Given the description of an element on the screen output the (x, y) to click on. 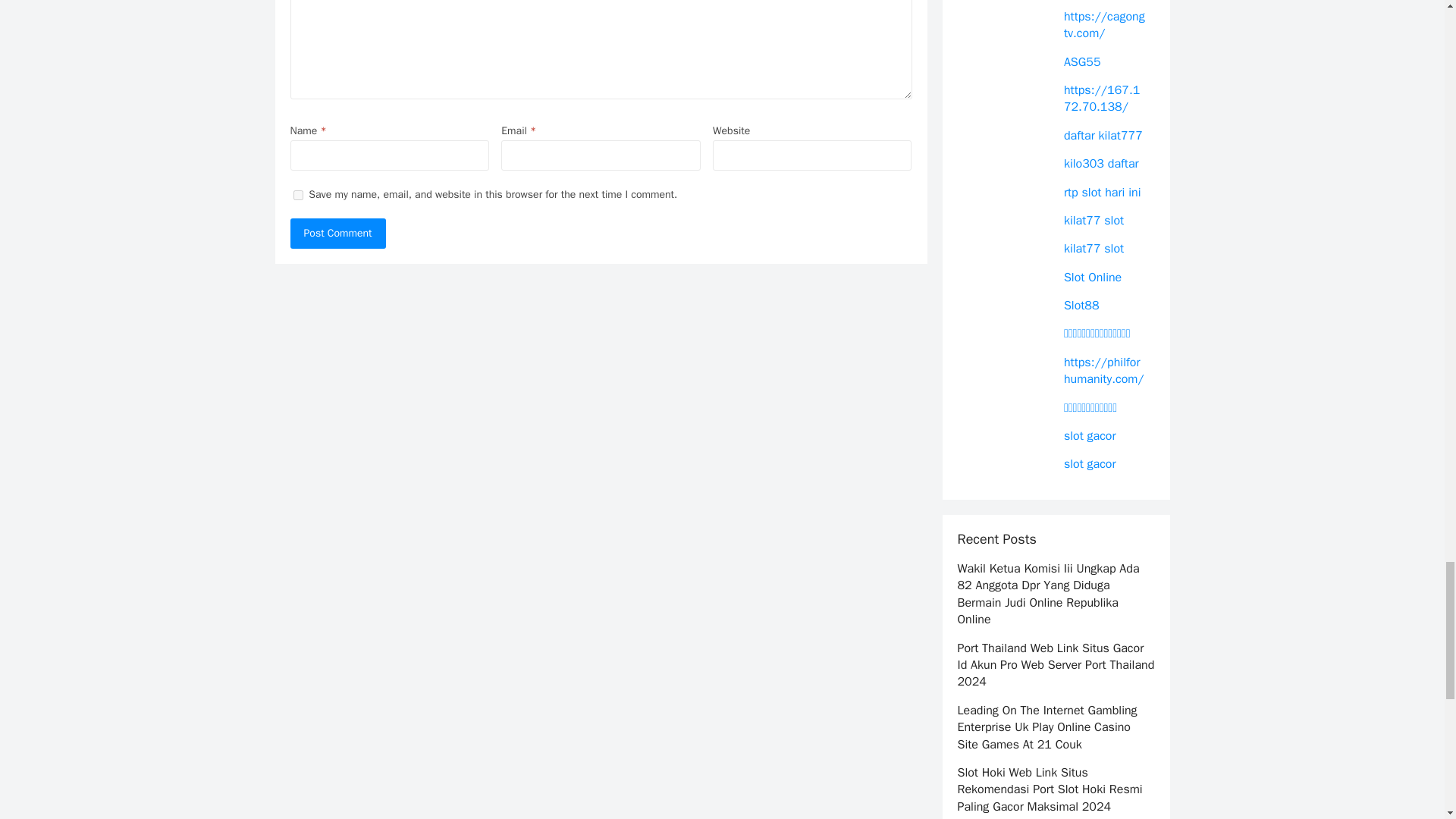
Post Comment (337, 233)
yes (297, 194)
